Given the description of an element on the screen output the (x, y) to click on. 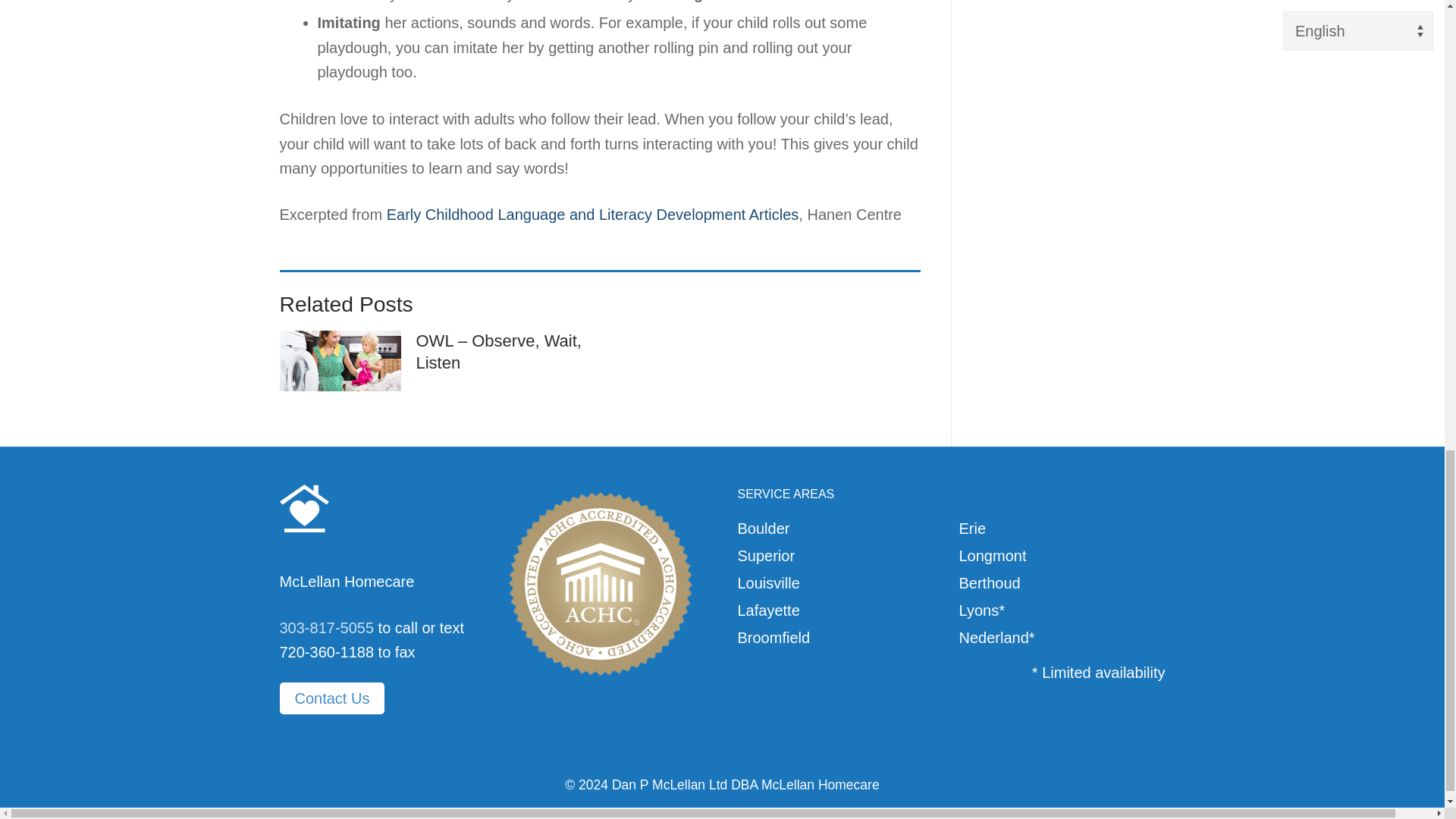
Contact Us (331, 698)
303-817-5055 (326, 627)
Early Childhood Language and Literacy Development Articles (593, 214)
